Given the description of an element on the screen output the (x, y) to click on. 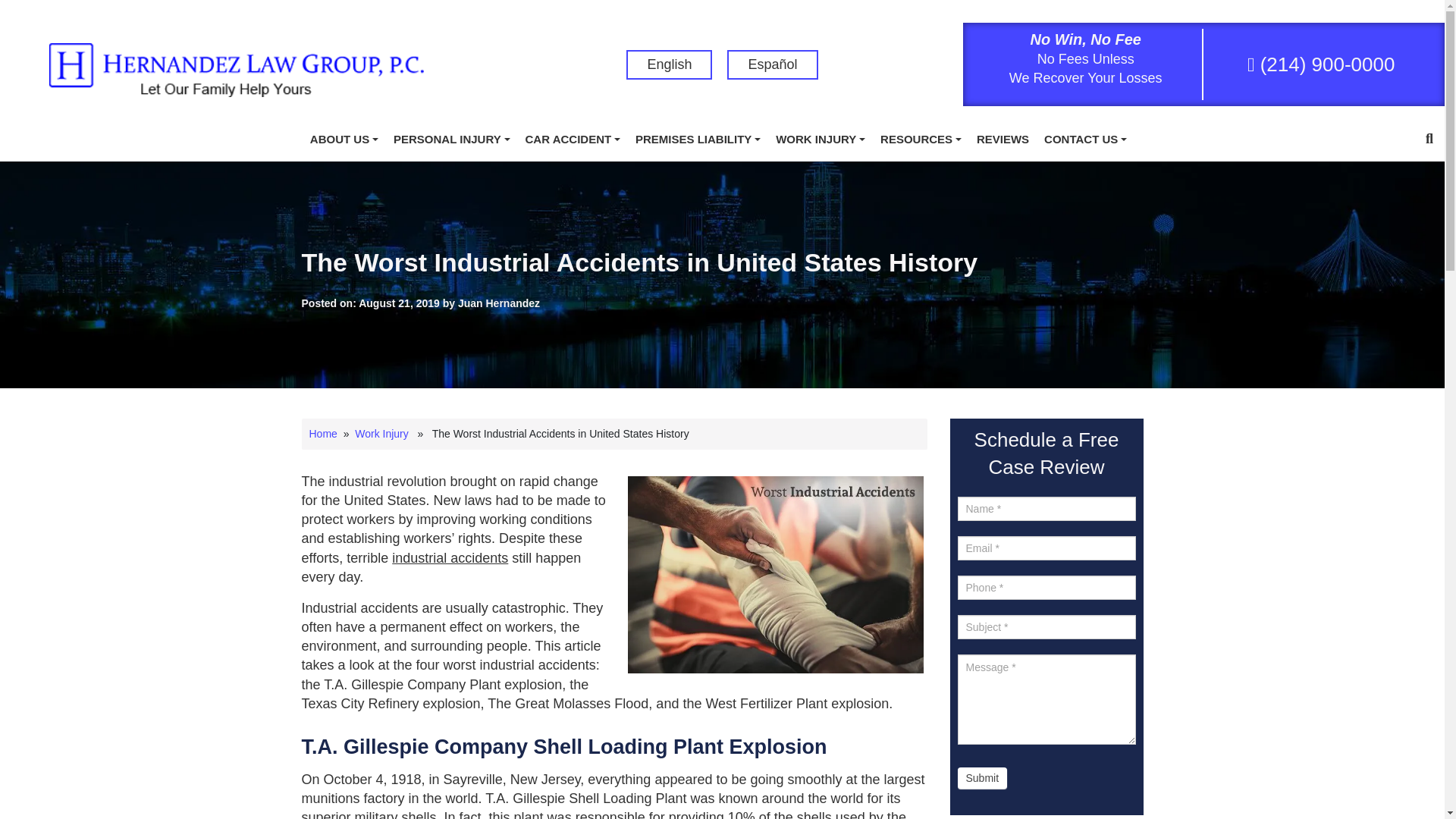
Personal Injury (451, 138)
ABOUT US (343, 138)
English (668, 64)
PERSONAL INJURY (451, 138)
CAR ACCIDENT (572, 138)
About Us (343, 138)
